Given the description of an element on the screen output the (x, y) to click on. 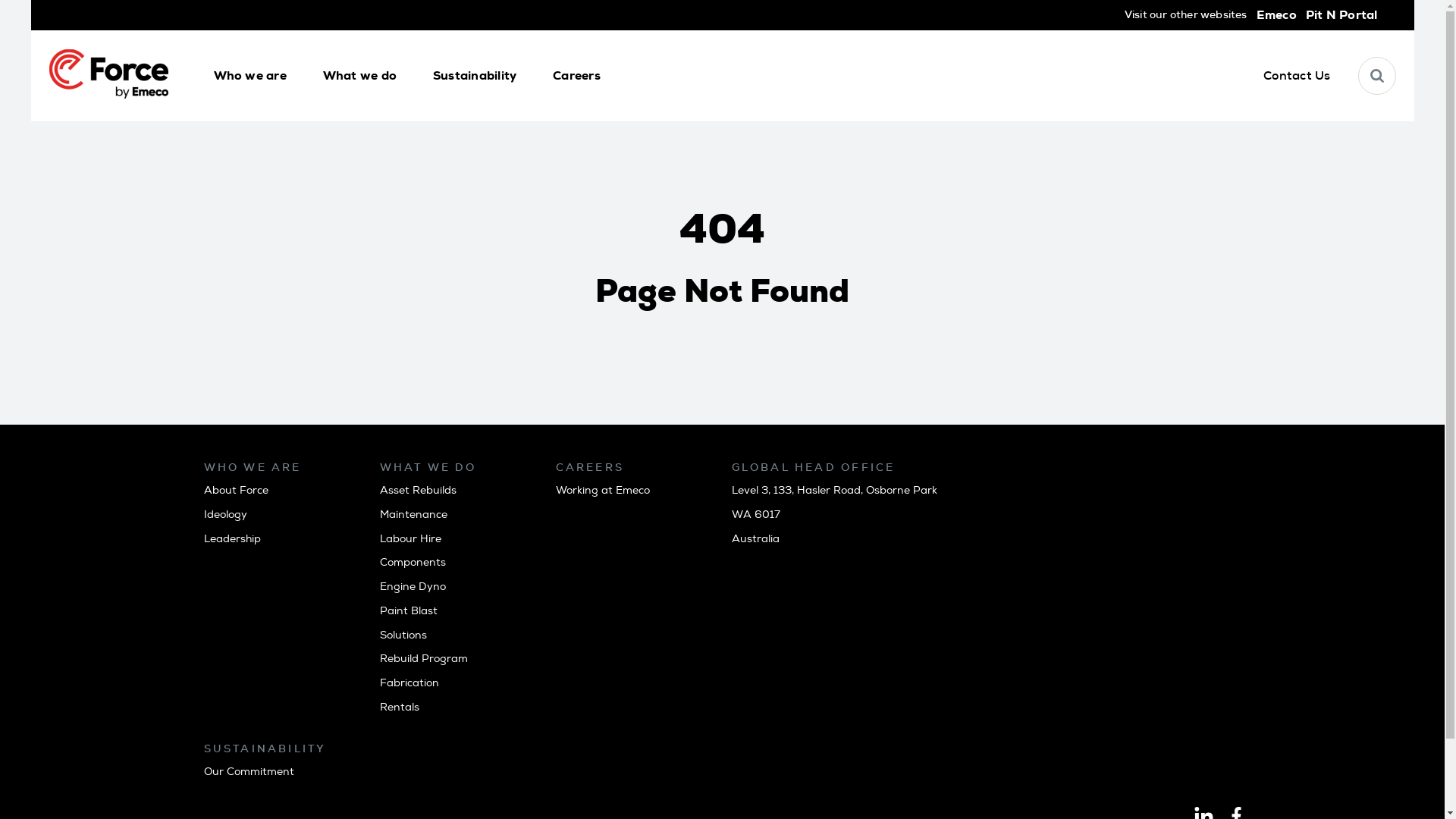
Contact Us Element type: text (1296, 75)
Engine Dyno Element type: text (412, 586)
Careers Element type: text (576, 75)
Fabrication Element type: text (408, 682)
Emeco Element type: text (1276, 14)
Solutions Element type: text (402, 634)
Rentals Element type: text (398, 706)
Ideology Element type: text (224, 514)
Working at Emeco Element type: text (602, 489)
About Force Element type: text (235, 489)
Pit N Portal Element type: text (1341, 14)
Maintenance Element type: text (412, 514)
Paint Blast Element type: text (407, 610)
Asset Rebuilds Element type: text (417, 489)
Rebuild Program Element type: text (423, 658)
Our Commitment Element type: text (248, 771)
Sustainability Element type: text (474, 75)
Labour Hire Element type: text (409, 538)
Components Element type: text (412, 561)
Leadership Element type: text (231, 538)
